Given the description of an element on the screen output the (x, y) to click on. 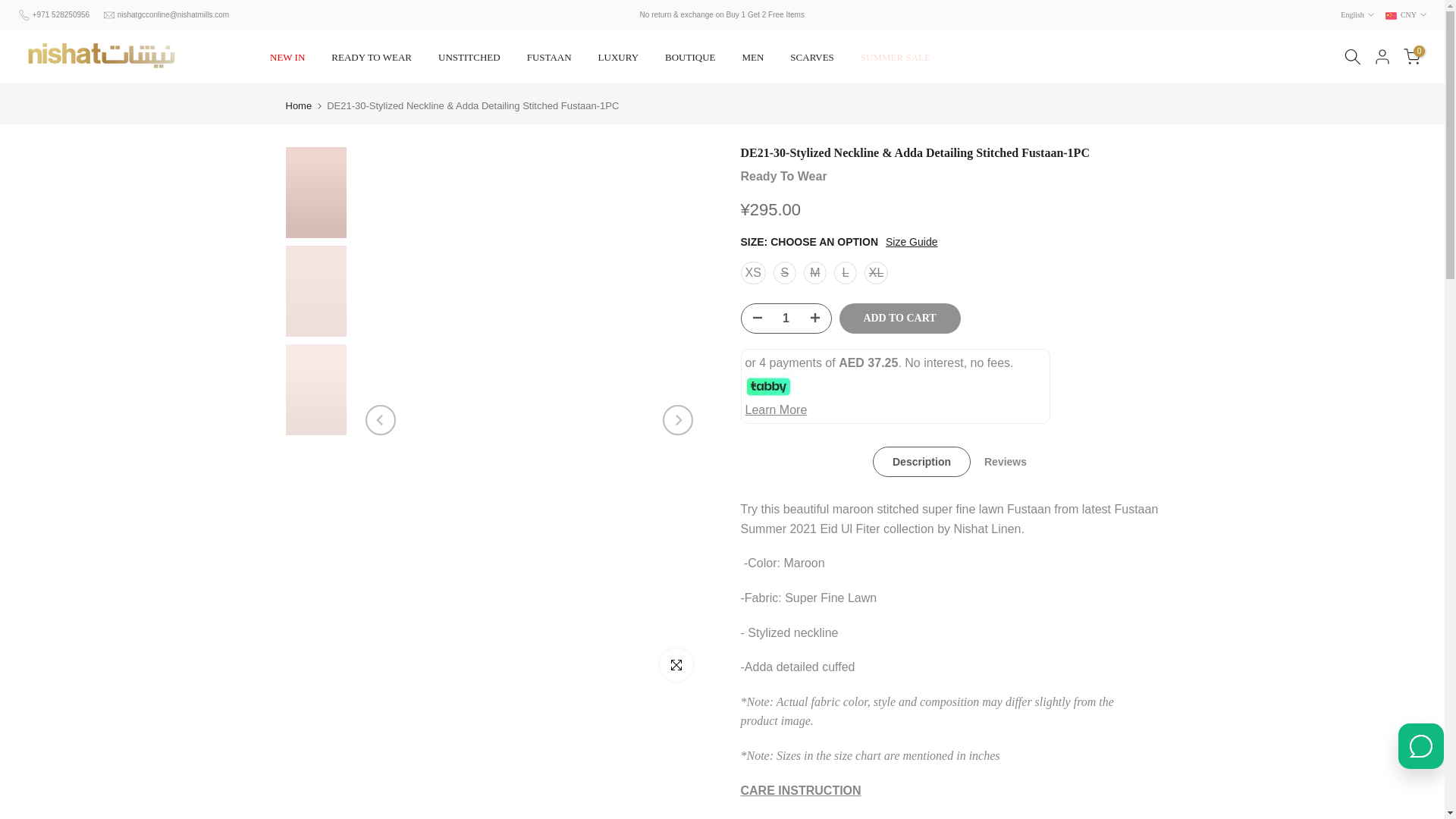
NEW IN (286, 57)
CNY (1406, 14)
READY TO WEAR (371, 57)
Skip to content (10, 7)
English (1357, 14)
1 (786, 317)
 AED. 149.00  (769, 209)
